Given the description of an element on the screen output the (x, y) to click on. 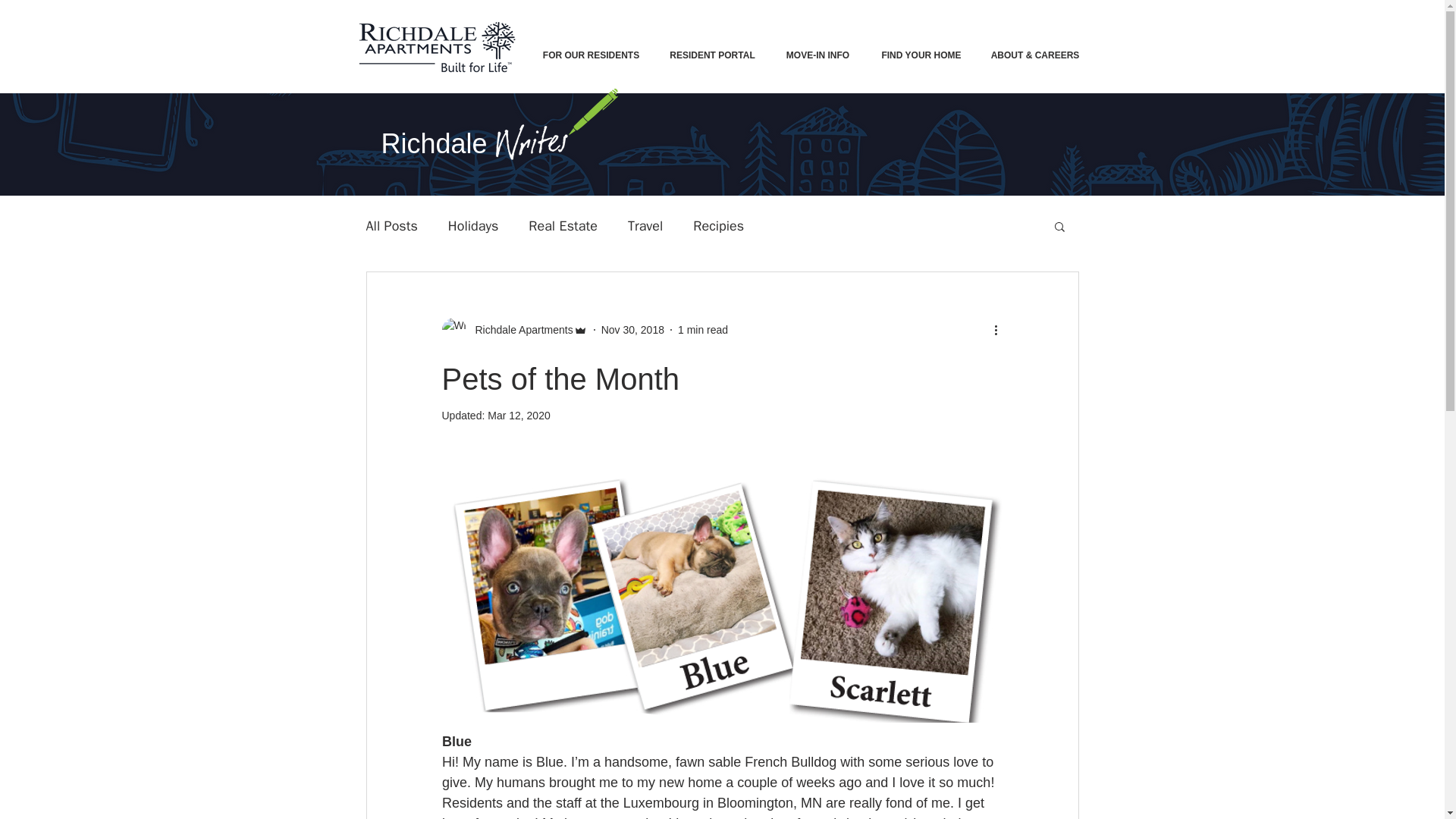
Richdale Apartments (513, 329)
Richdale Apartments (518, 329)
FIND YOUR HOME (921, 54)
1 min read (703, 328)
Travel (644, 226)
All Posts (390, 226)
Mar 12, 2020 (518, 415)
MOVE-IN INFO (818, 54)
RESIDENT PORTAL (712, 54)
Nov 30, 2018 (632, 328)
Real Estate (562, 226)
Recipies (718, 226)
Holidays (473, 226)
